Given the description of an element on the screen output the (x, y) to click on. 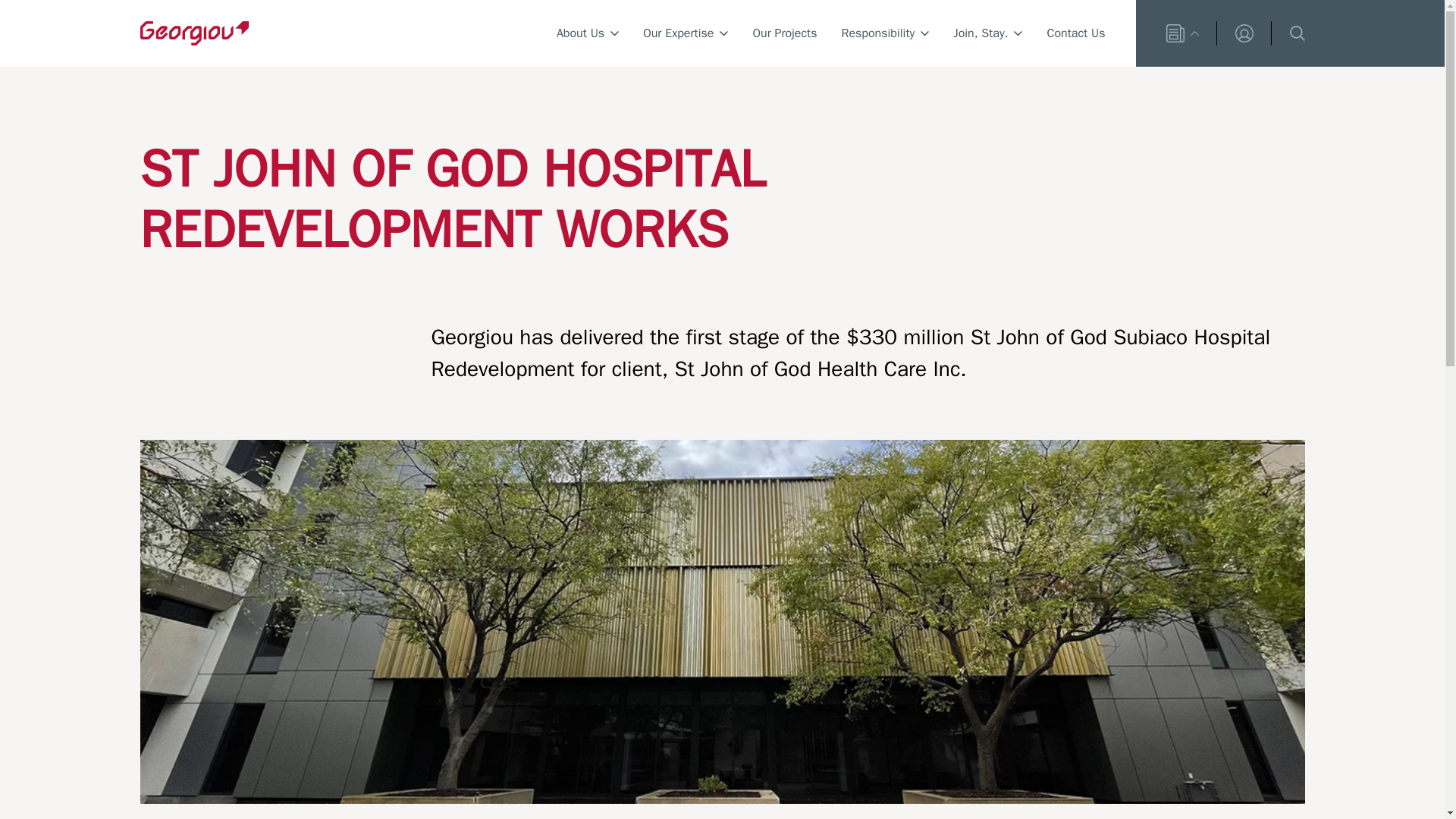
Our Expertise (685, 33)
About Us (587, 33)
Contact Us (1075, 33)
Our Projects (784, 33)
Responsibility (884, 33)
Join, Stay. (987, 33)
